Given the description of an element on the screen output the (x, y) to click on. 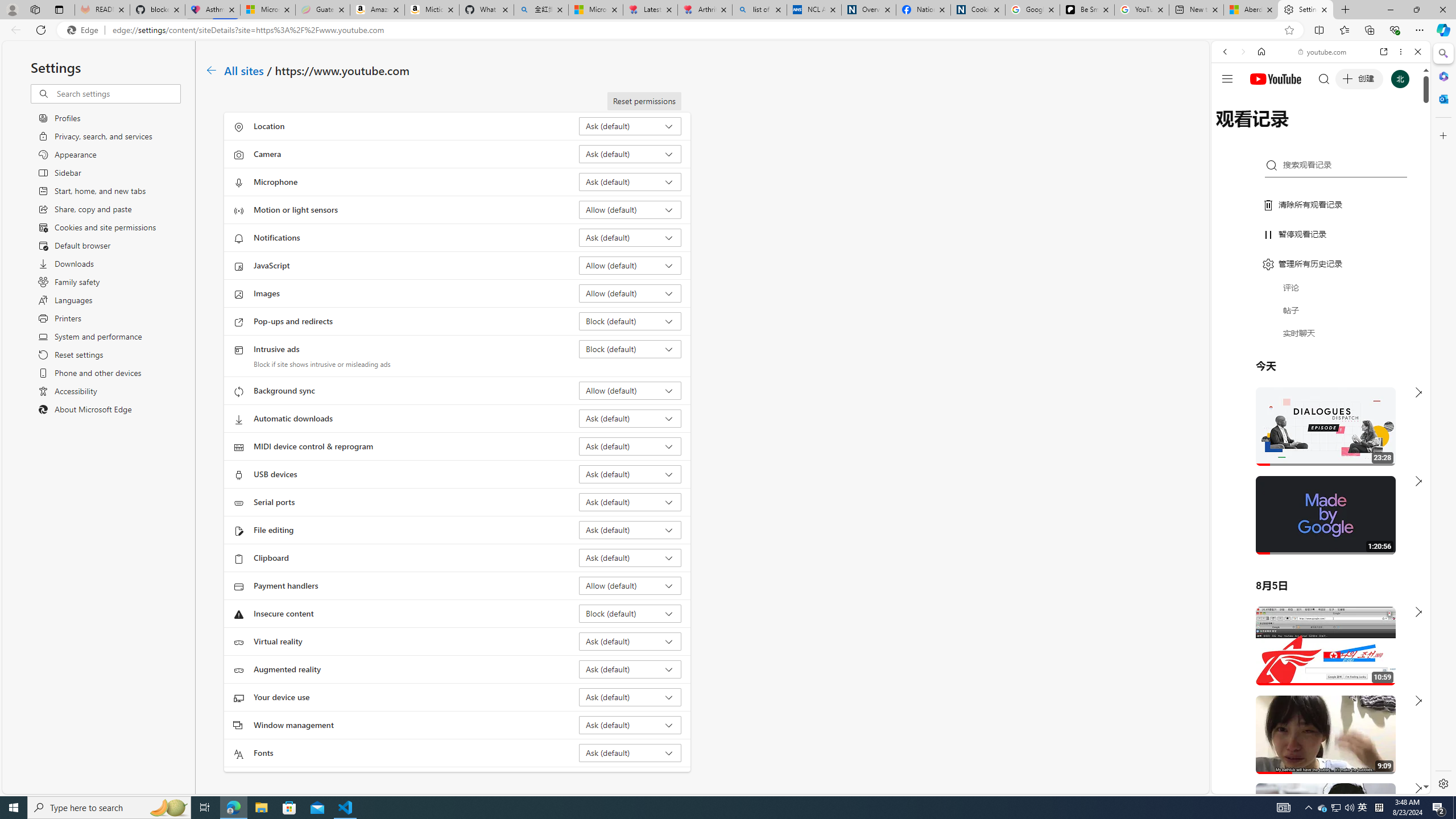
All sites (244, 69)
File editing Ask (default) (630, 529)
